Given the description of an element on the screen output the (x, y) to click on. 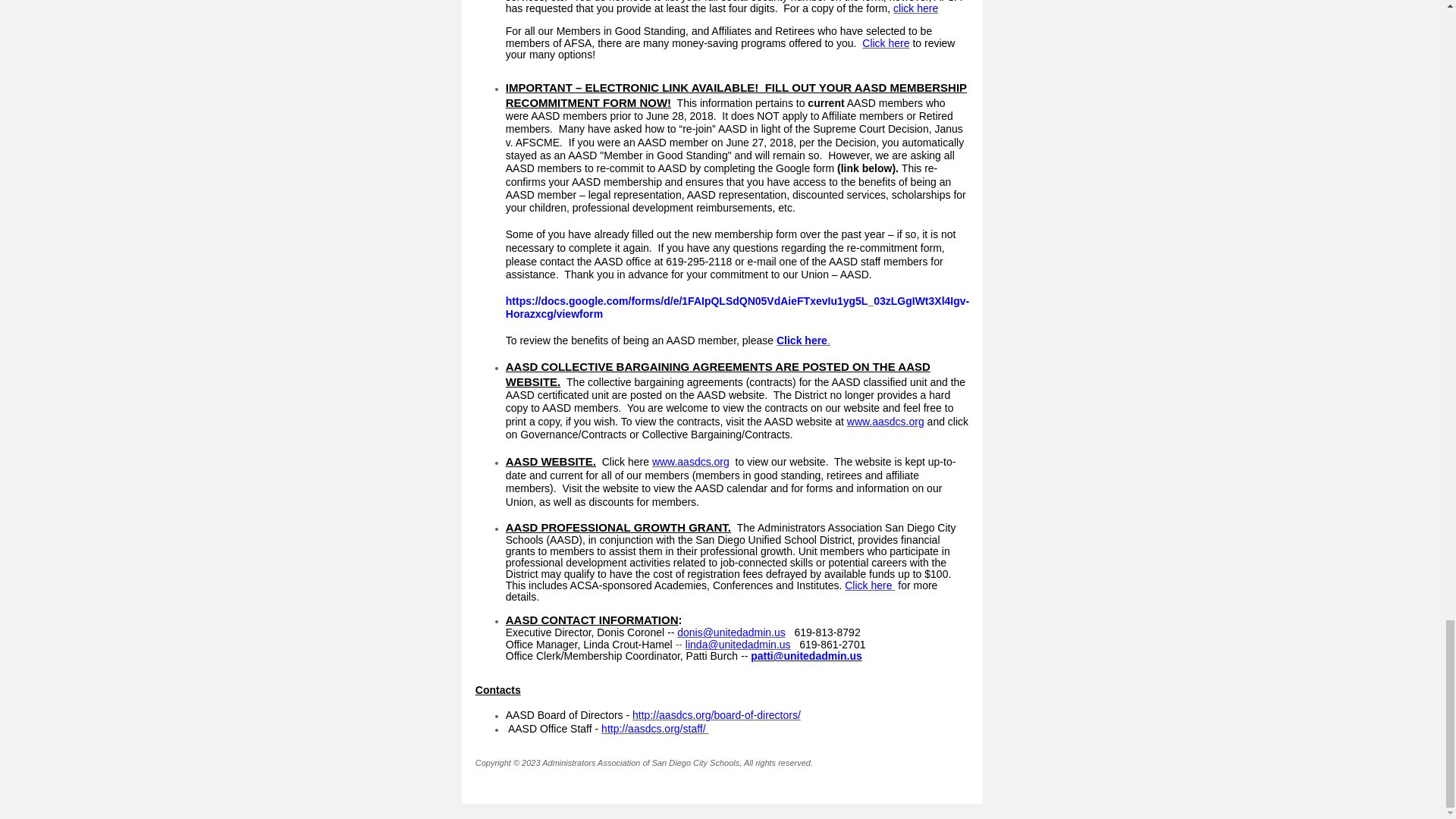
. (828, 340)
Click here (801, 340)
Click here (884, 42)
www.aasdcs.org (885, 421)
www.aasdcs.org (690, 461)
click here (915, 8)
Click here  (869, 585)
